Given the description of an element on the screen output the (x, y) to click on. 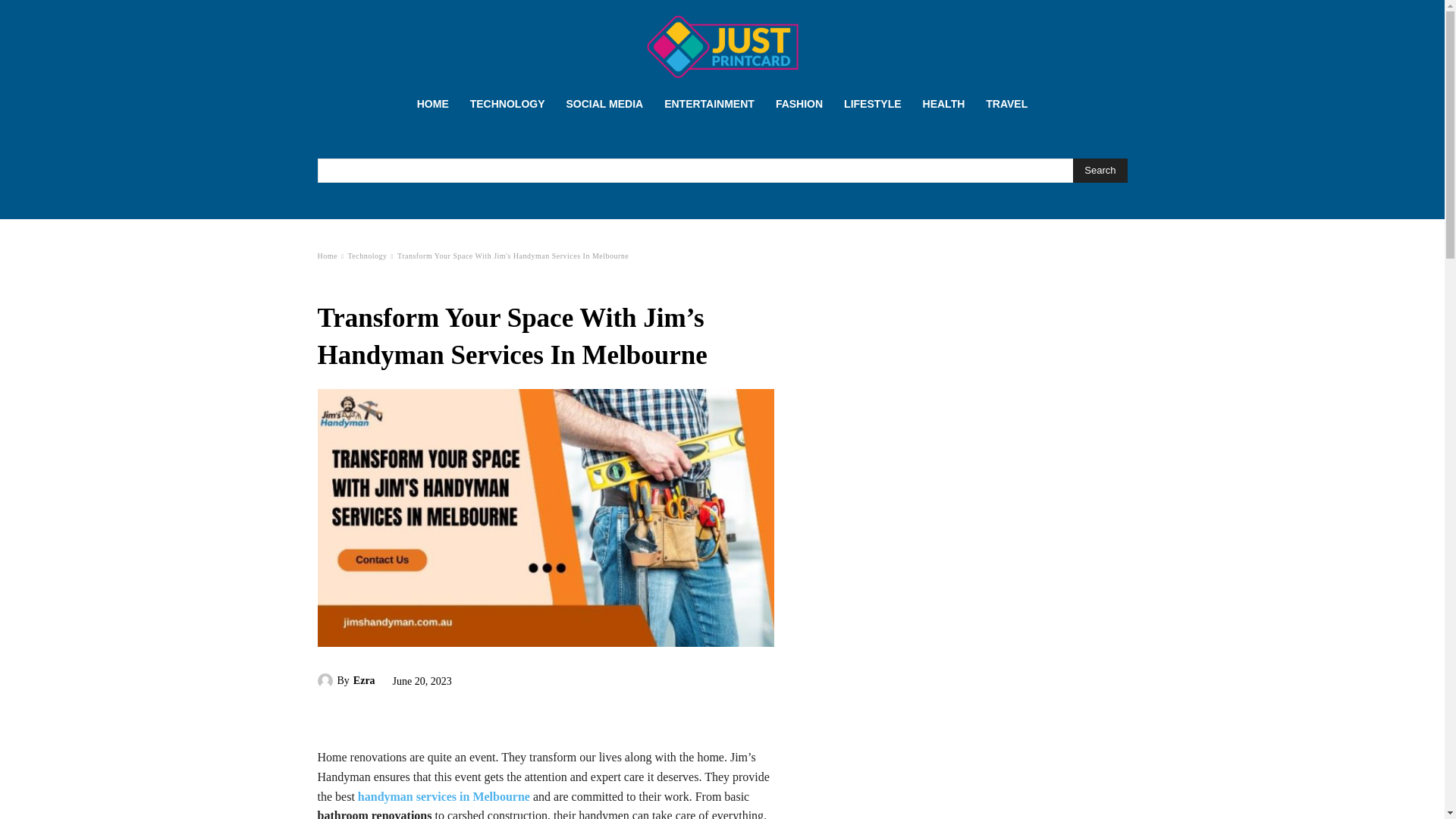
Ezra (326, 680)
View all posts in Technology (367, 255)
